Given the description of an element on the screen output the (x, y) to click on. 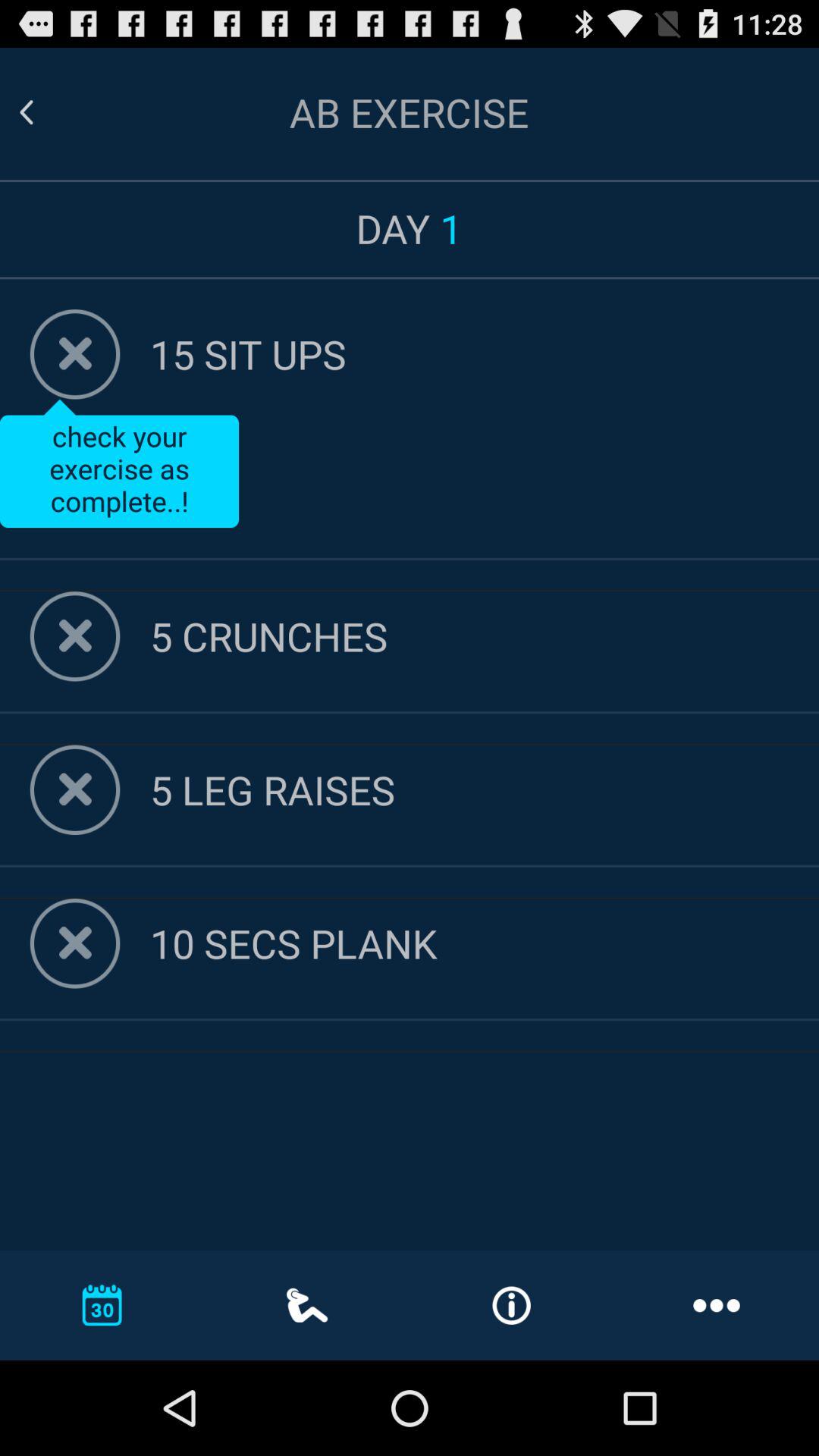
select the icon right next to calendar icon at the bottom of the page (306, 1305)
select 15 sit ups (484, 353)
